Given the description of an element on the screen output the (x, y) to click on. 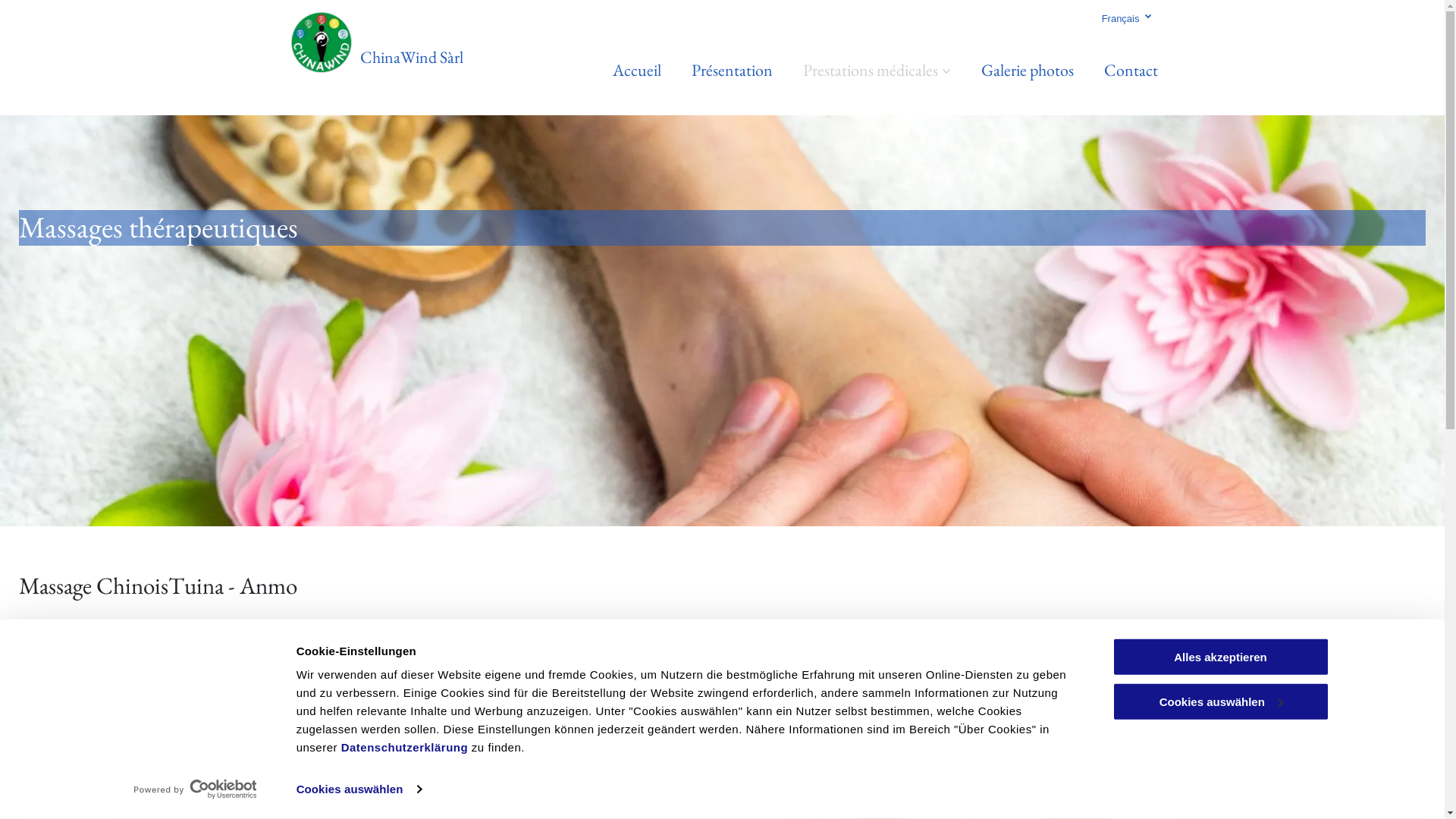
Contact Element type: text (1130, 69)
Alles akzeptieren Element type: text (1219, 656)
Accueil Element type: text (636, 69)
Galerie photos Element type: text (1027, 69)
